Given the description of an element on the screen output the (x, y) to click on. 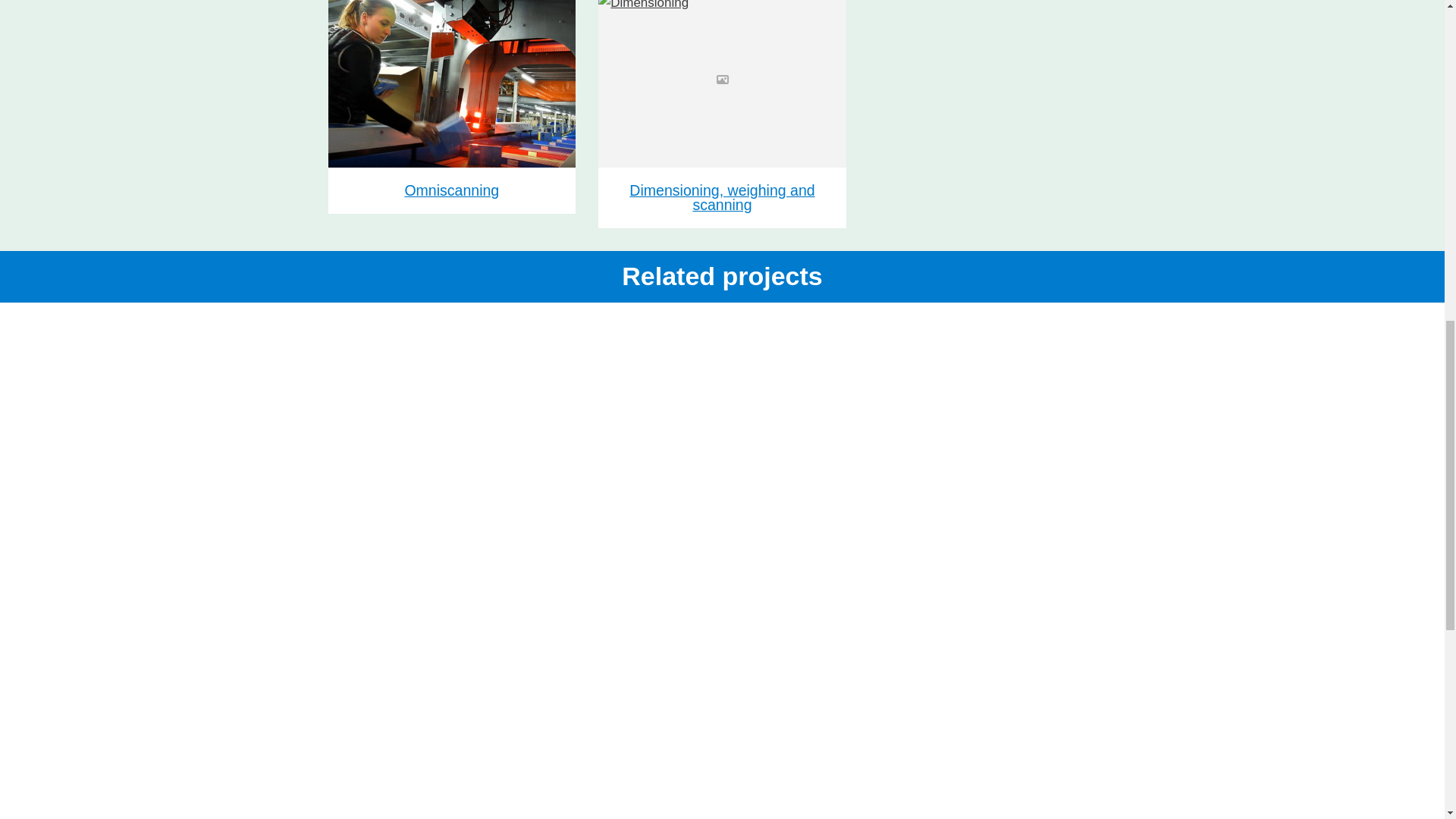
Dimensioning Weighing Scanning (721, 83)
Dimensioning, weighing and scanning (721, 197)
Omniscanning (451, 190)
